Given the description of an element on the screen output the (x, y) to click on. 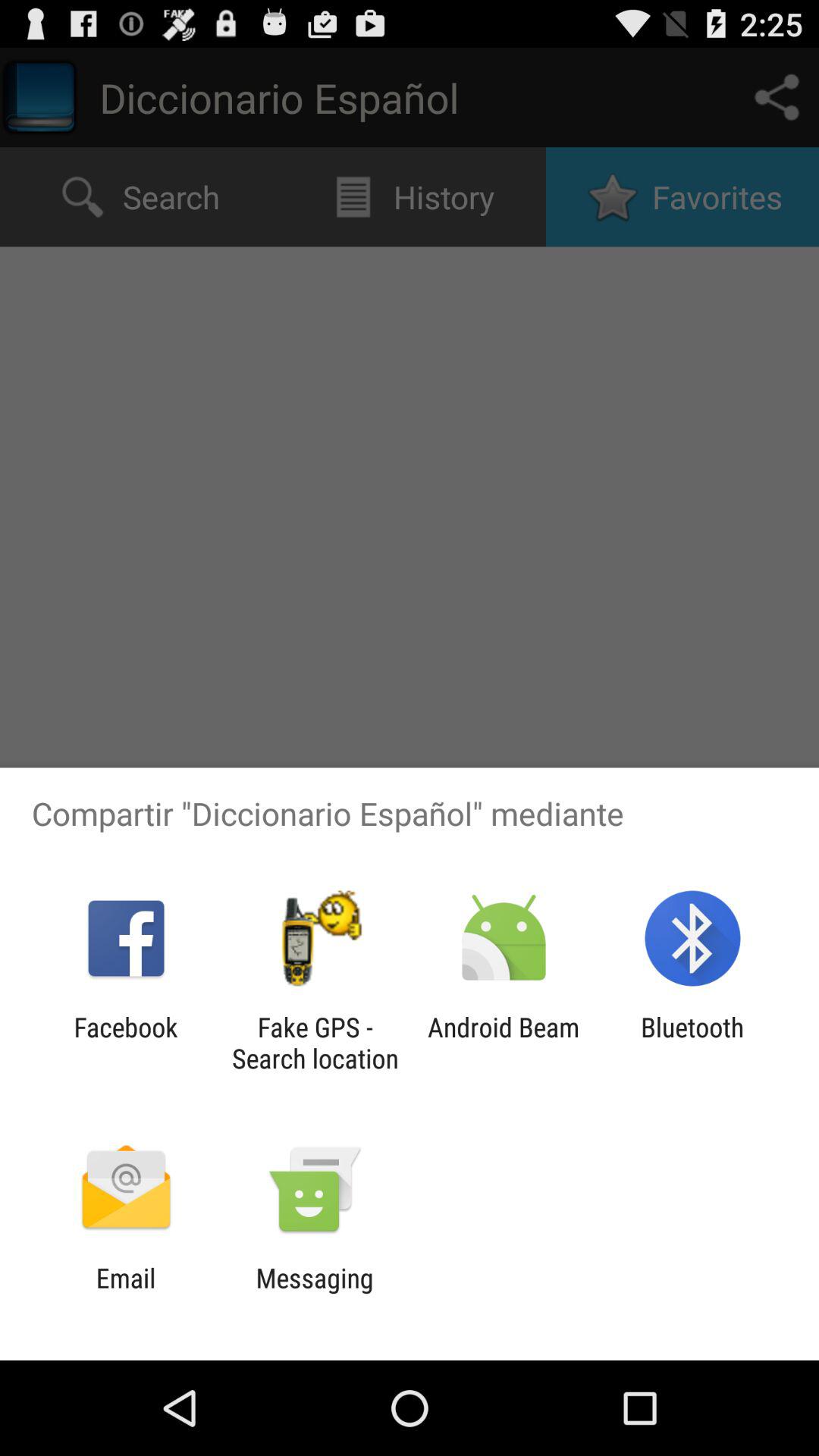
press app to the right of the facebook app (314, 1042)
